Given the description of an element on the screen output the (x, y) to click on. 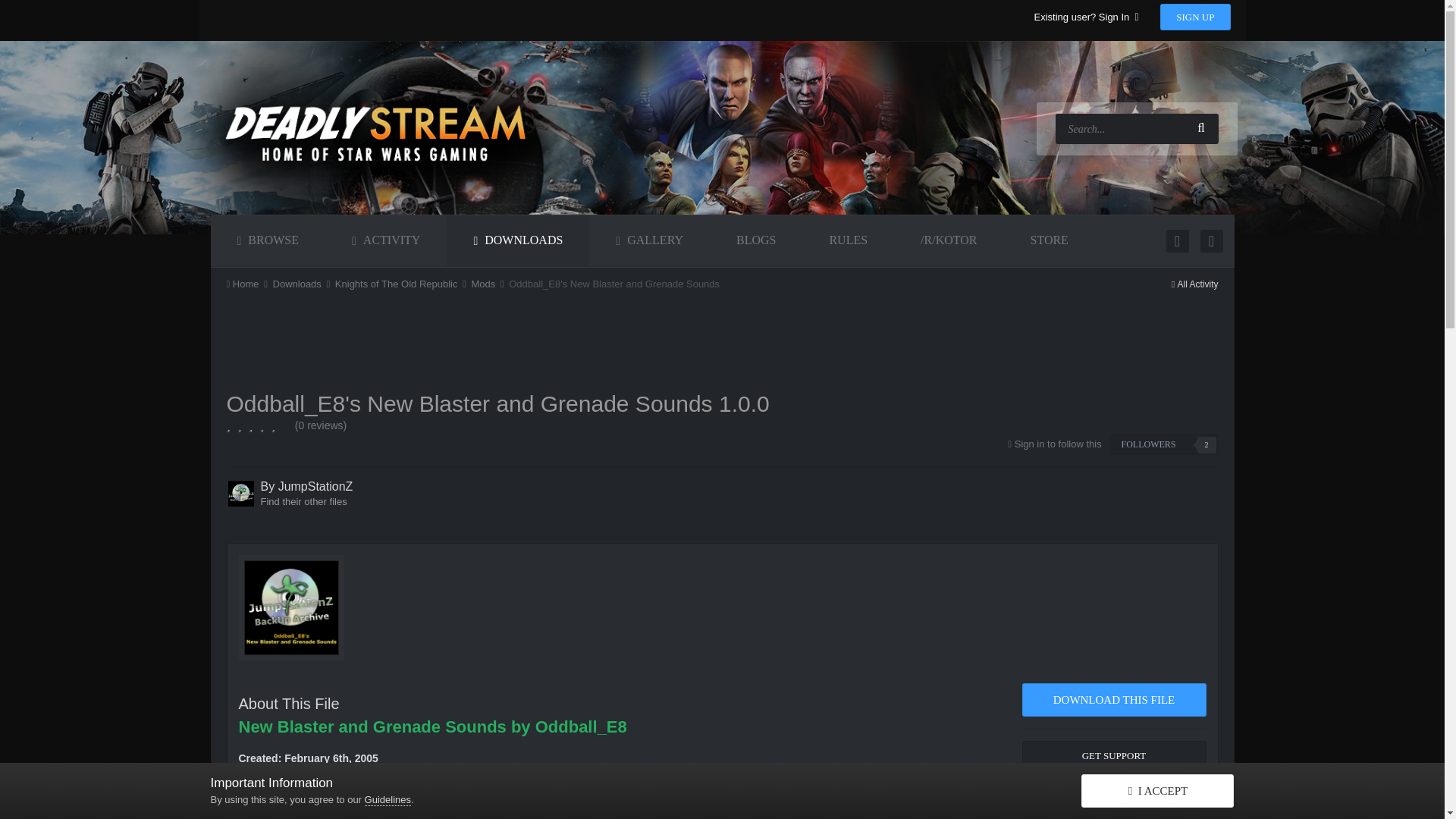
BLOGS (756, 240)
BROWSE (268, 240)
STORE (1049, 240)
Get support for this download (1114, 756)
Go to the sign in page (1058, 443)
SIGN UP (1195, 17)
RULES (847, 240)
Advertisement (501, 345)
Go to JumpStationZ's profile (240, 493)
Home (247, 283)
